Given the description of an element on the screen output the (x, y) to click on. 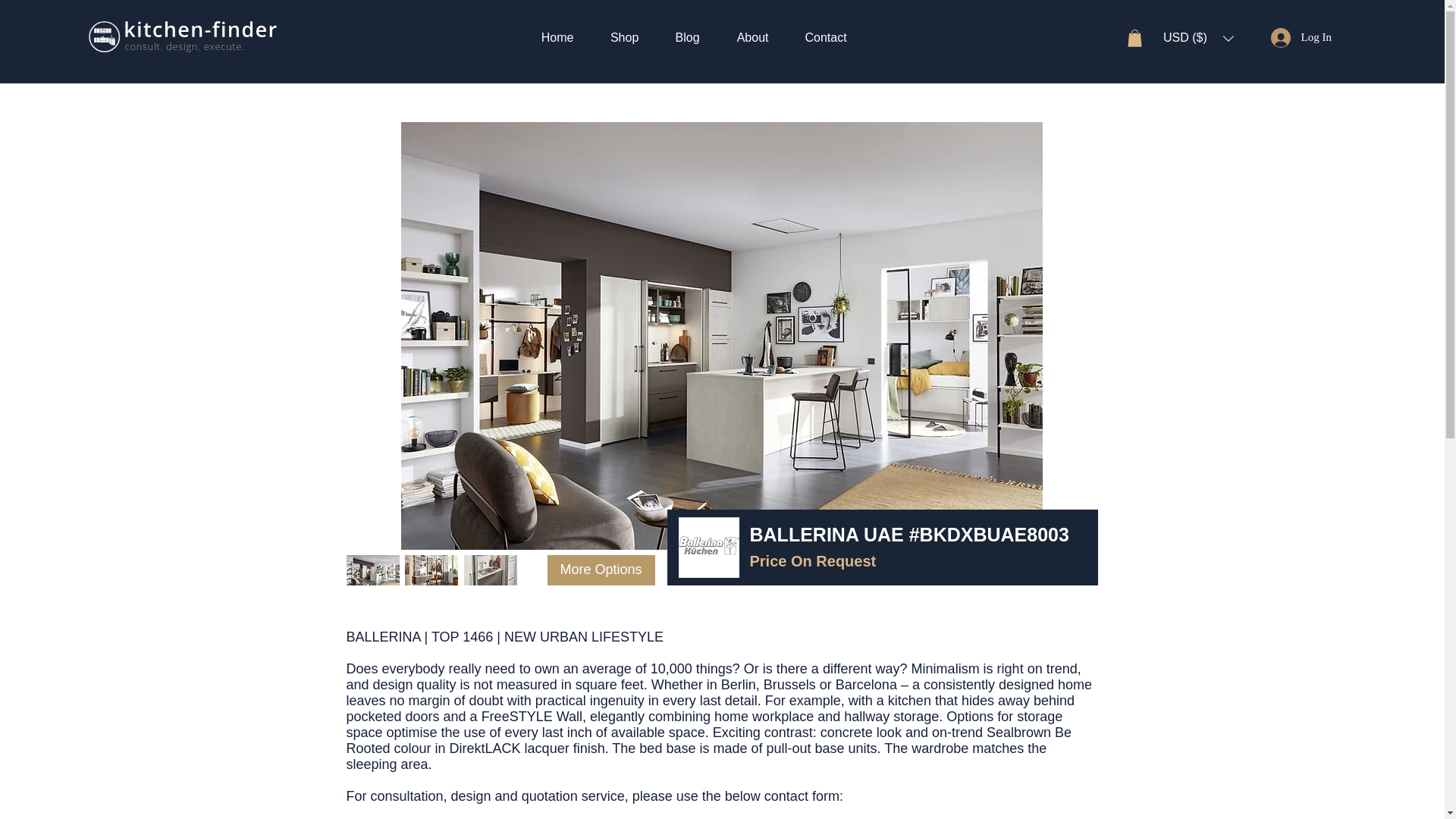
Log In (1301, 36)
Blog (686, 37)
Shop (624, 37)
Home (557, 37)
About (752, 37)
Contact (825, 37)
